Given the description of an element on the screen output the (x, y) to click on. 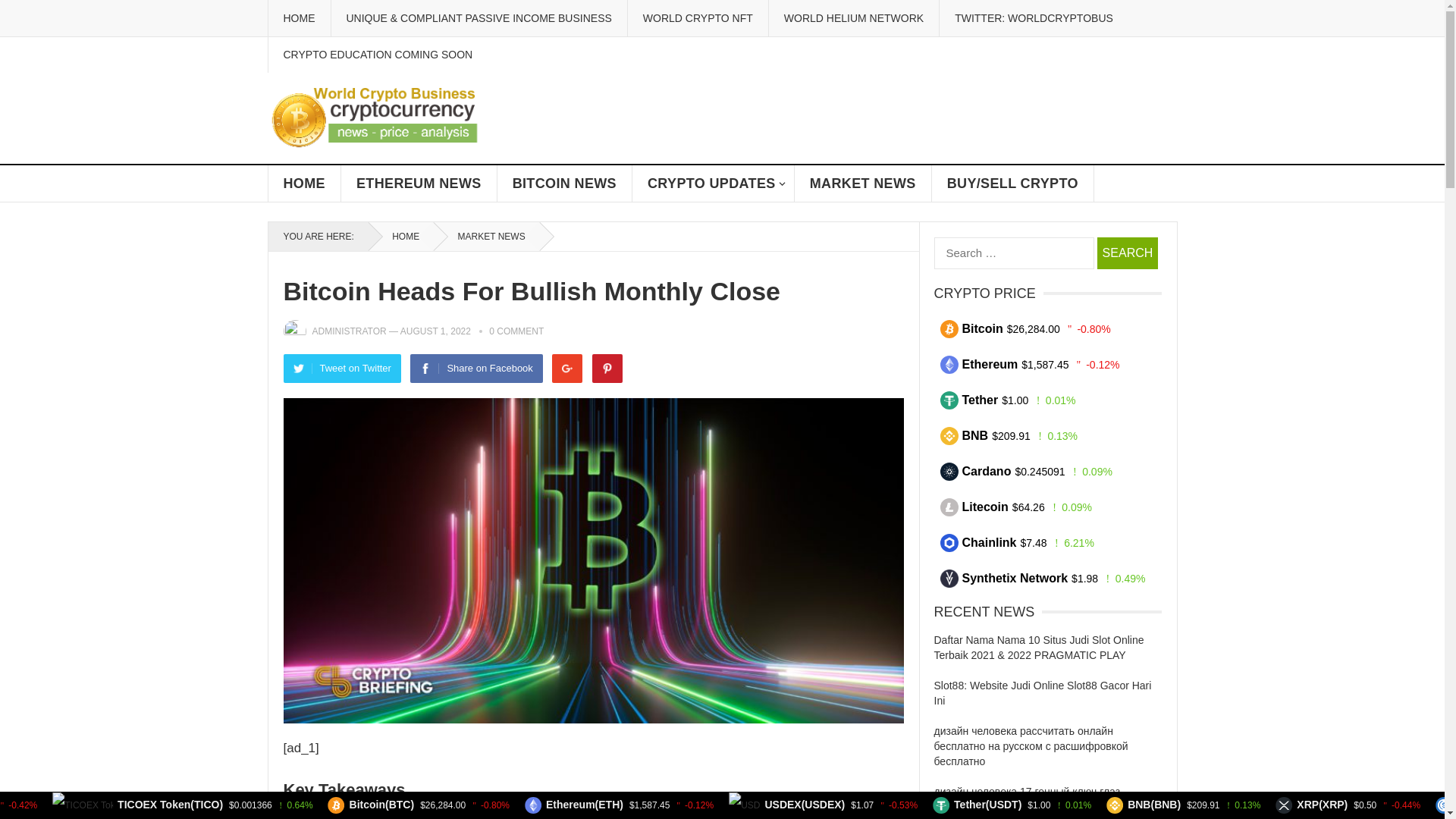
Search (1127, 253)
Posts by administrator (350, 330)
BITCOIN NEWS (564, 183)
0 COMMENT (516, 330)
MARKET NEWS (862, 183)
CRYPTO EDUCATION COMING SOON (376, 54)
View all posts in Market News (485, 235)
ADMINISTRATOR (350, 330)
WORLD CRYPTO NFT (697, 18)
MARKET NEWS (485, 235)
HOME (303, 183)
HOME (298, 18)
Share on Facebook (475, 368)
Pinterest (607, 368)
CRYPTO UPDATES (712, 183)
